Given the description of an element on the screen output the (x, y) to click on. 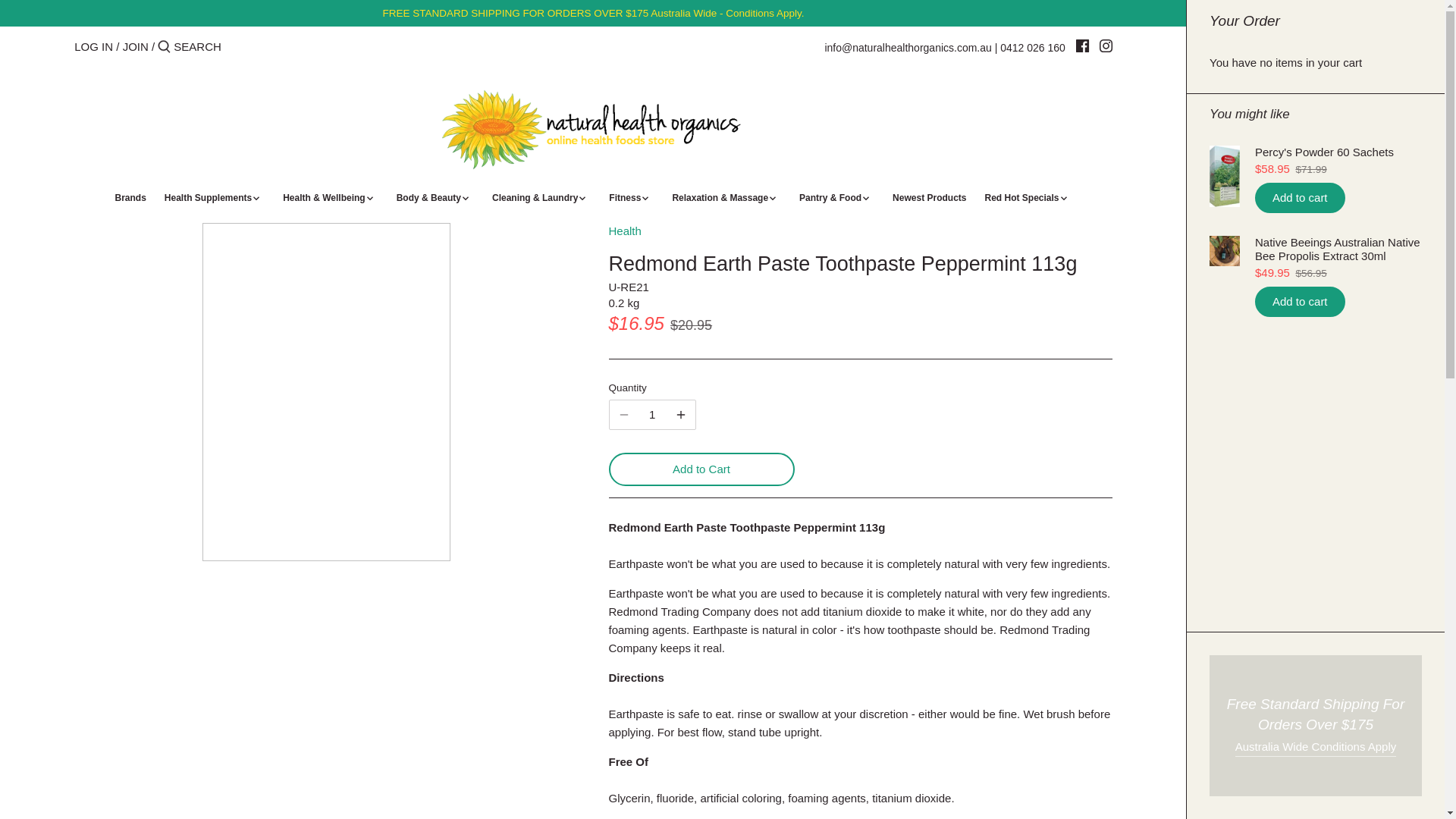
Percy's Powder 60 Sachets (1338, 151)
LOG IN (93, 46)
Health Supplements (207, 200)
FACEBOOK (1082, 45)
Add to cart (1300, 197)
Brands (129, 200)
Native Beeings Australian Native Bee Propolis Extract 30ml (1338, 248)
INSTAGRAM (1105, 45)
1 (652, 414)
JOIN (135, 46)
